Given the description of an element on the screen output the (x, y) to click on. 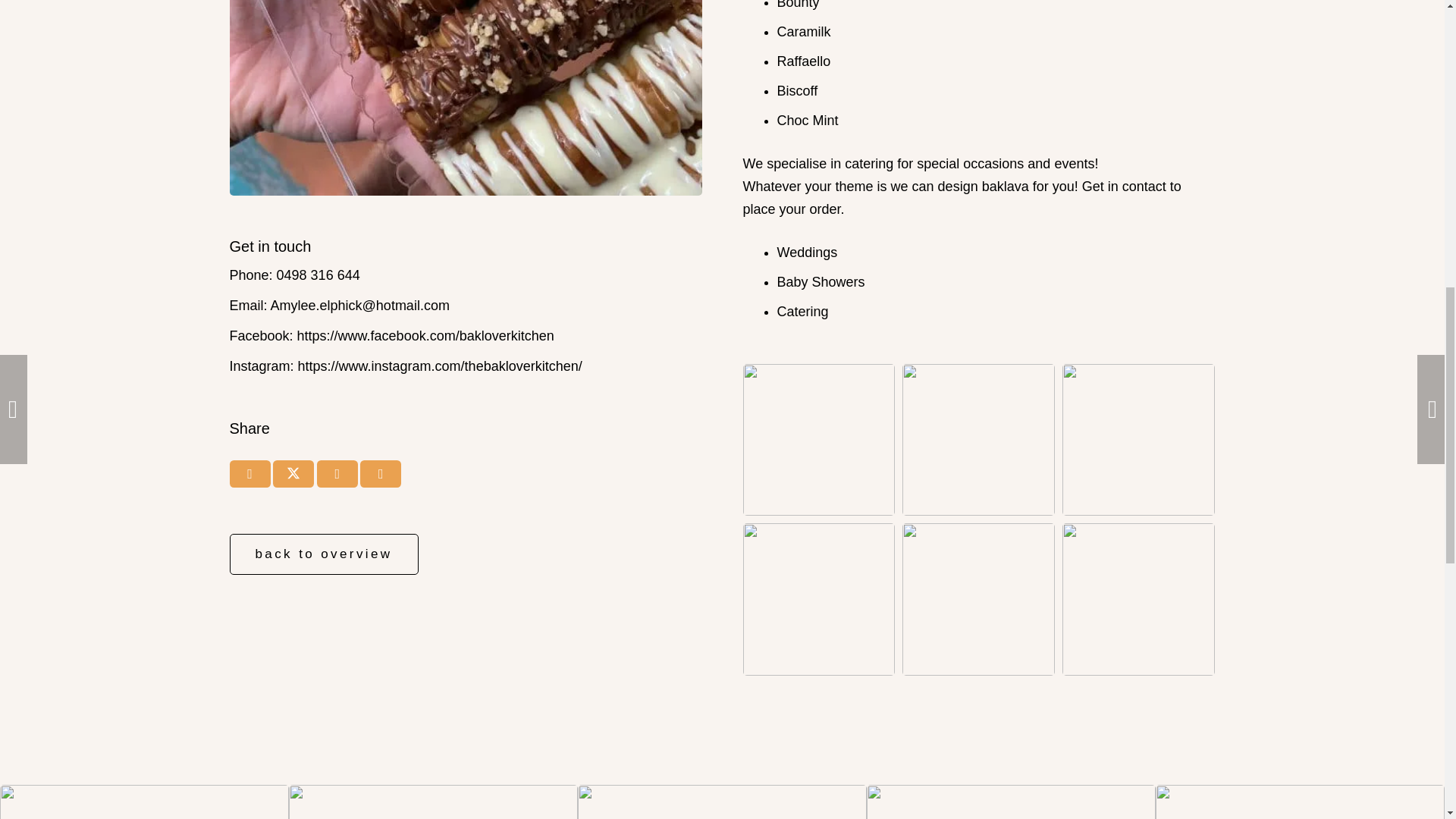
Share this (248, 473)
Tweet this (293, 473)
Share this (337, 473)
back to overview (322, 553)
Pin this (380, 473)
